Given the description of an element on the screen output the (x, y) to click on. 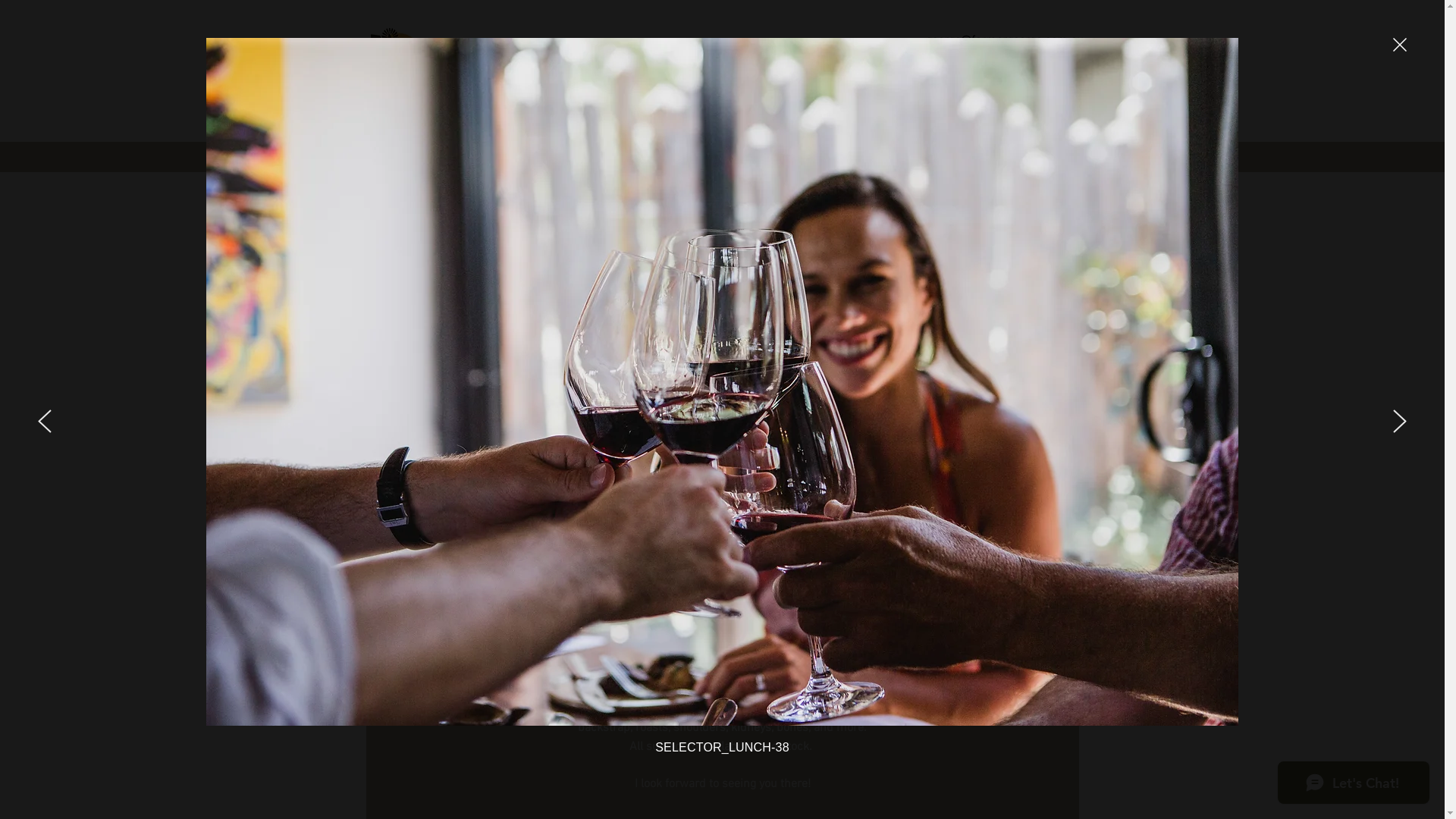
Home Element type: text (377, 156)
Where to Find Me Element type: text (500, 156)
About Element type: text (427, 156)
Order Element type: text (576, 156)
Carriageworks Farmers Markets Element type: text (742, 645)
george@farmergeorge.com.au Element type: text (1003, 40)
